Given the description of an element on the screen output the (x, y) to click on. 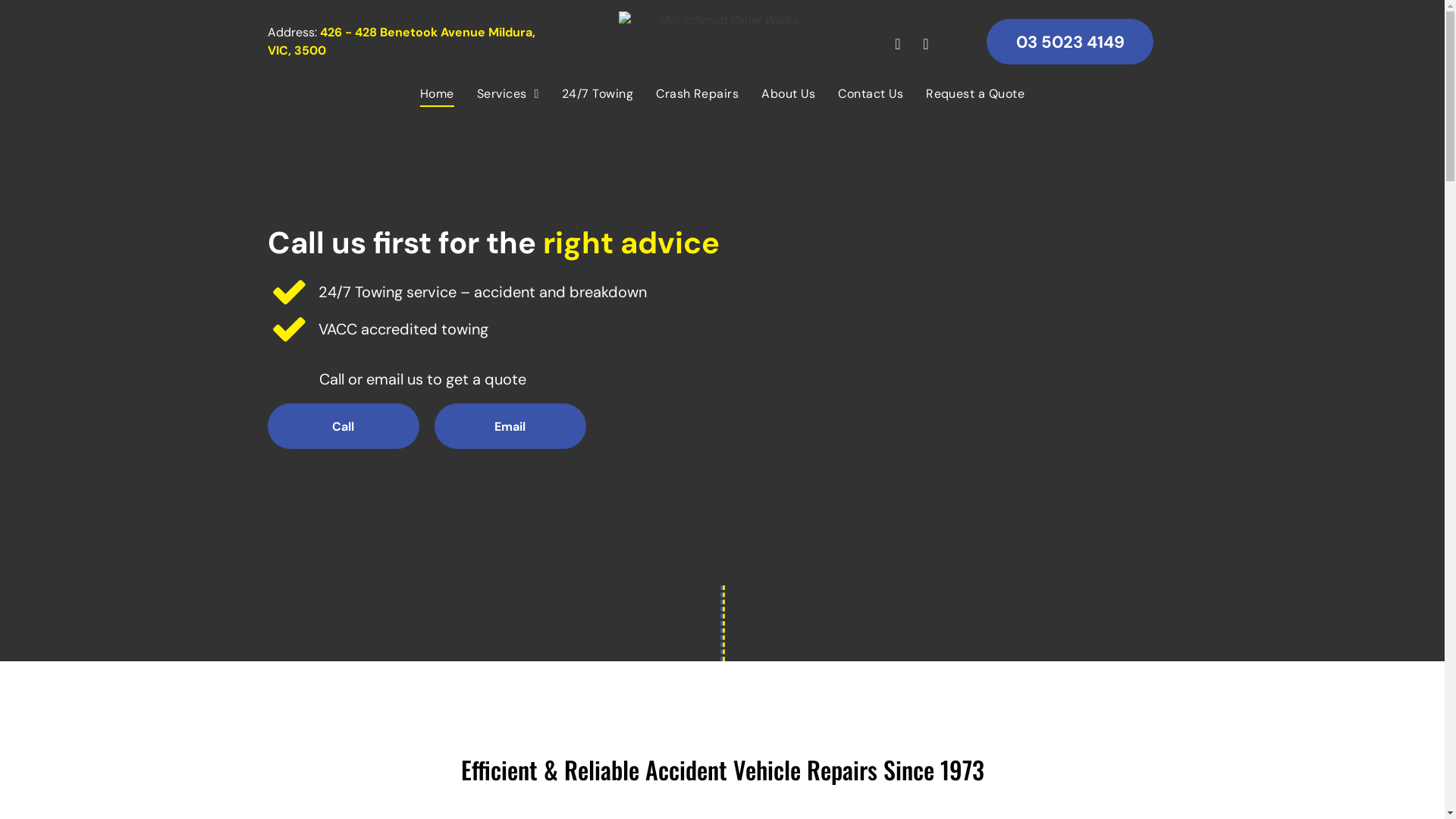
Contact Us Element type: text (870, 93)
24/7 Towing Element type: text (597, 93)
03 5023 4149 Element type: text (1069, 41)
Email Element type: text (509, 425)
426 - 428 Benetook Avenue Mildura, VIC, 3500 Element type: text (400, 41)
Mel Schmidt Panel Works Element type: hover (721, 38)
Crash Repairs Element type: text (696, 93)
Home Element type: text (436, 93)
Call Element type: text (342, 425)
Request a Quote Element type: text (974, 93)
Services Element type: text (507, 93)
About Us Element type: text (787, 93)
